Given the description of an element on the screen output the (x, y) to click on. 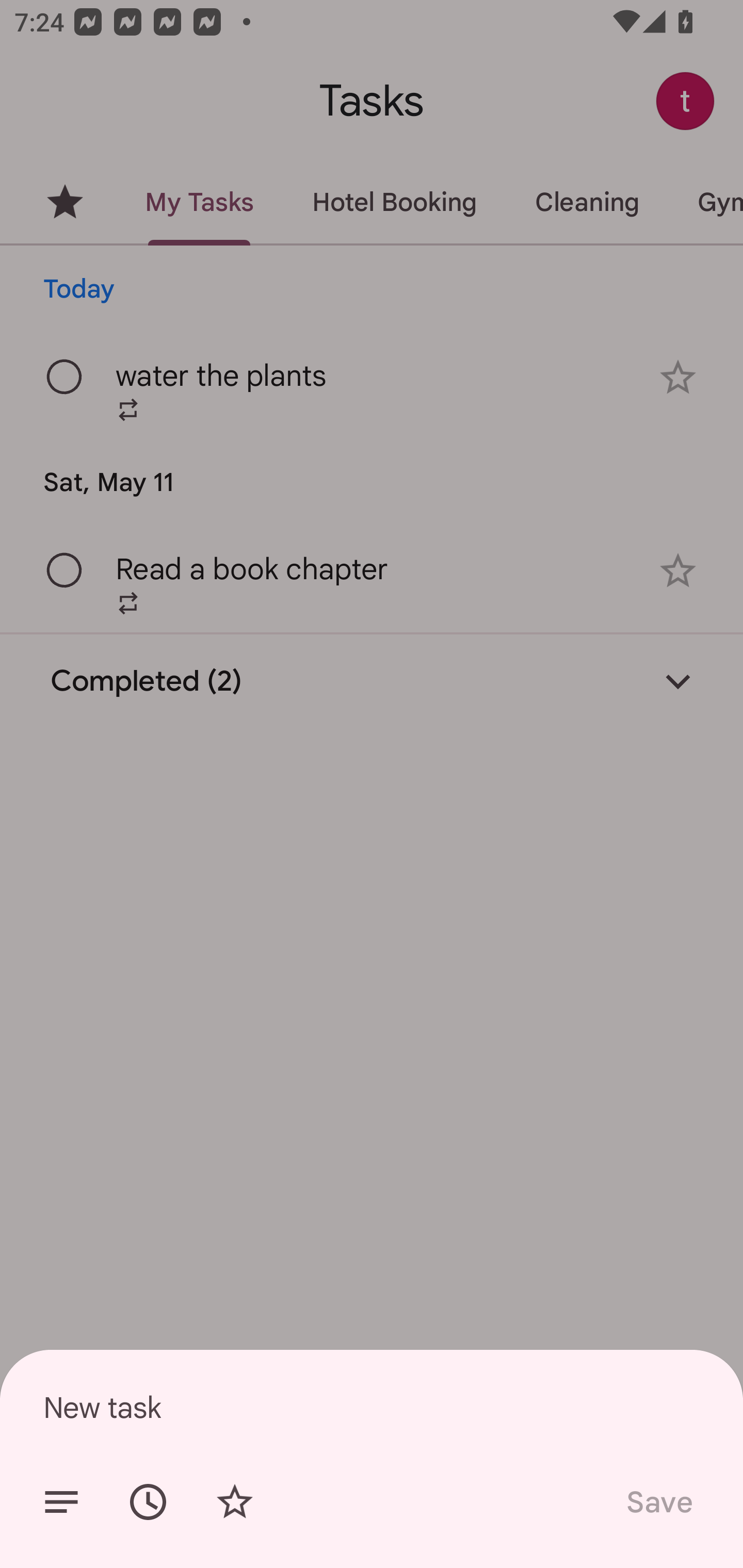
New task (371, 1407)
Save (659, 1501)
Add details (60, 1501)
Set date/time (147, 1501)
Add star (234, 1501)
